Given the description of an element on the screen output the (x, y) to click on. 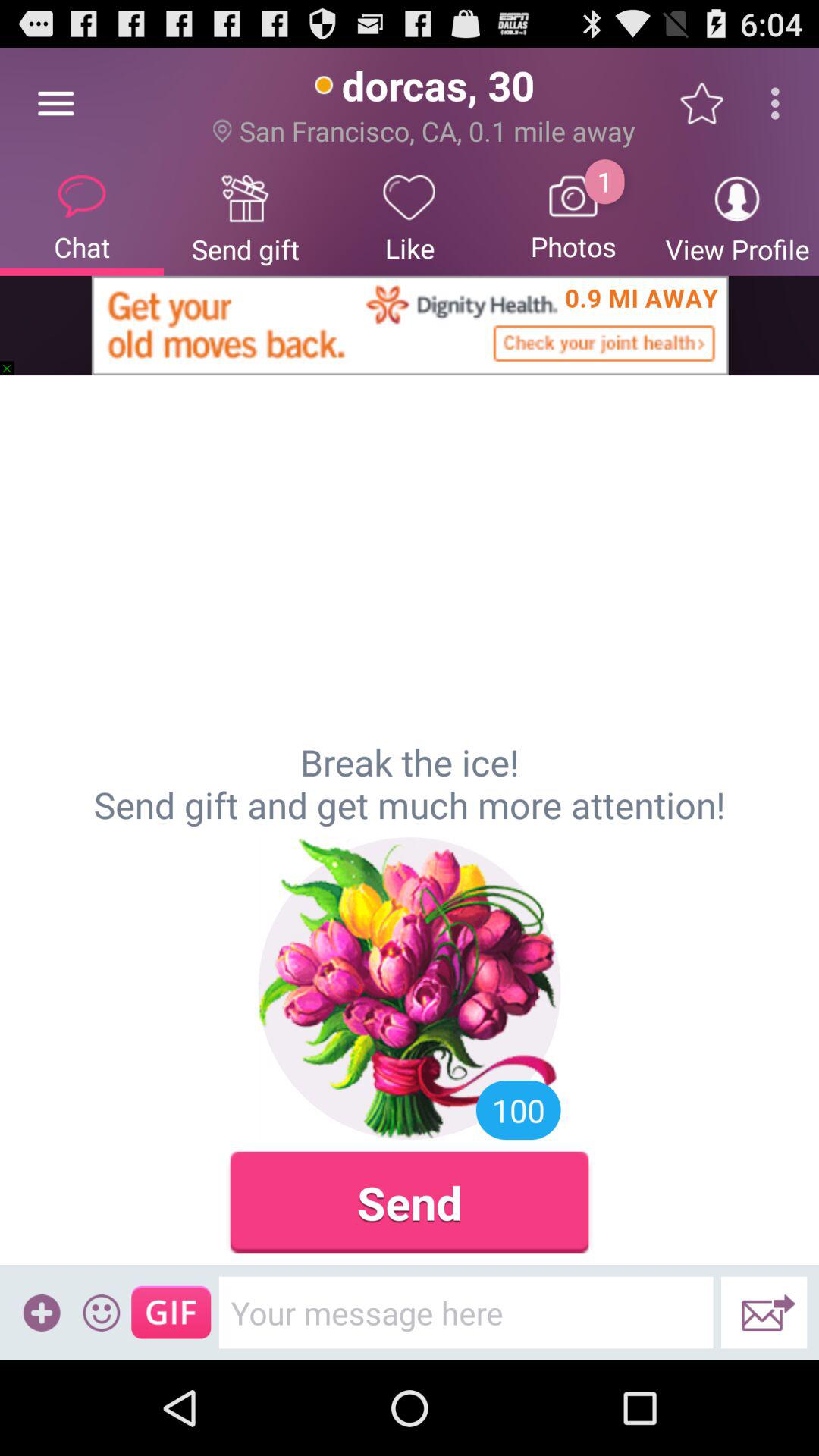
open the icon below san francisco ca item (573, 217)
